Given the description of an element on the screen output the (x, y) to click on. 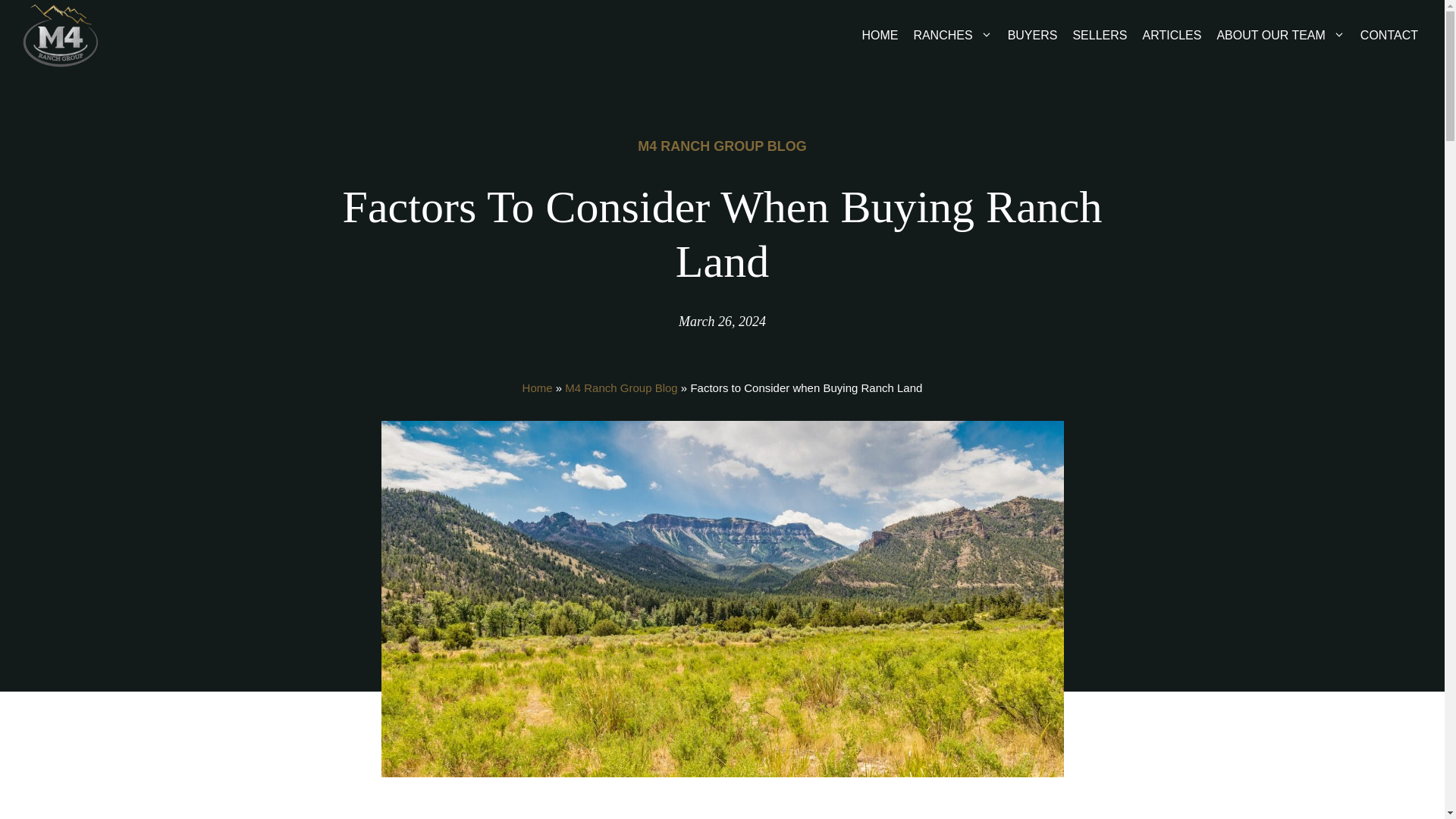
RANCHES (959, 35)
CONTACT (1395, 35)
SELLERS (1106, 35)
BUYERS (1040, 35)
HOME (886, 35)
ARTICLES (1178, 35)
ABOUT OUR TEAM (1287, 35)
